Given the description of an element on the screen output the (x, y) to click on. 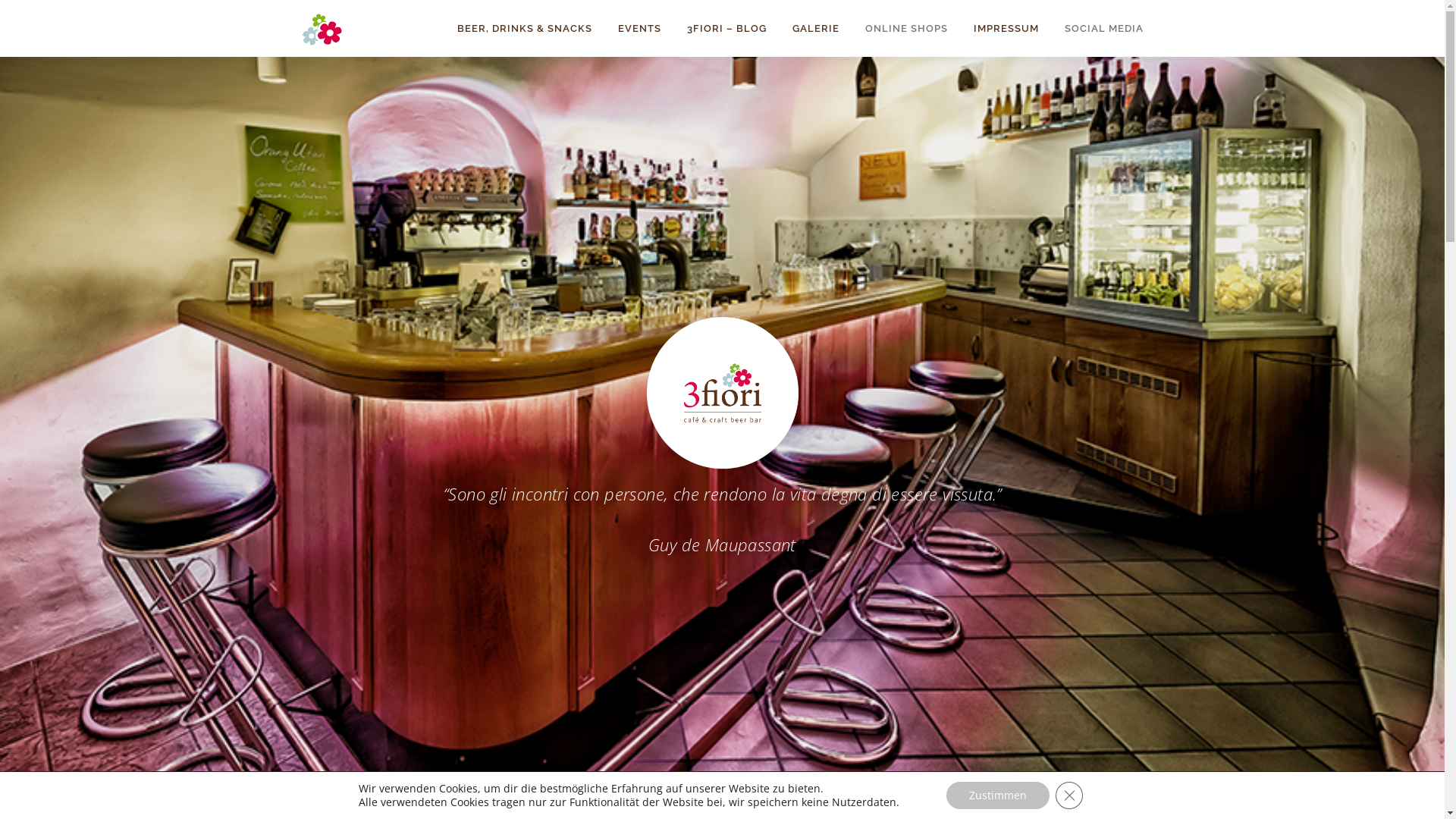
EVENTS Element type: text (639, 28)
IMPRESSUM Element type: text (1005, 28)
GALERIE Element type: text (815, 28)
SOCIAL MEDIA Element type: text (1096, 28)
BEER, DRINKS & SNACKS Element type: text (524, 28)
Zustimmen Element type: text (997, 795)
ONLINE SHOPS Element type: text (906, 28)
